Given the description of an element on the screen output the (x, y) to click on. 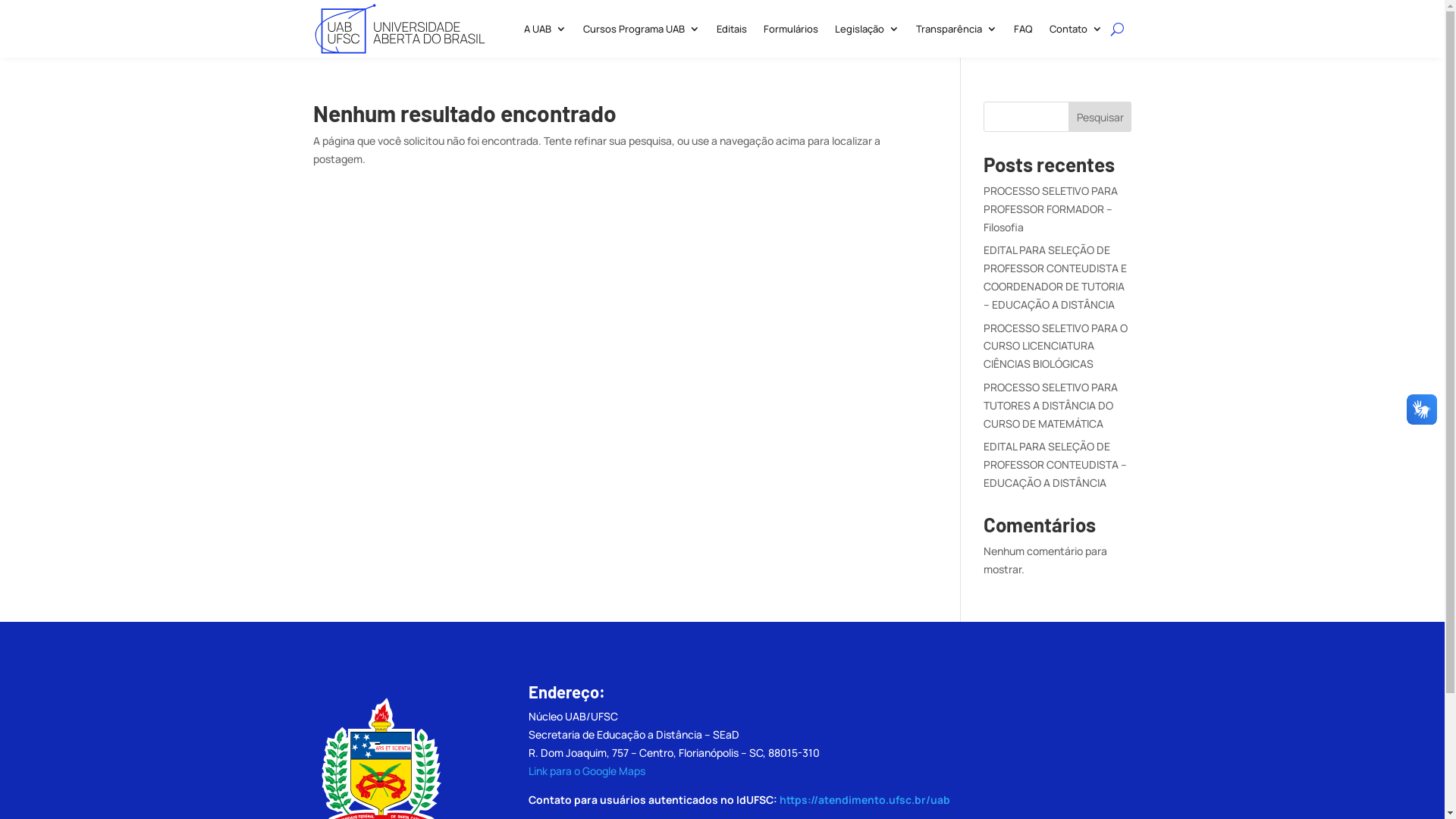
Cursos Programa UAB Element type: text (640, 28)
Contato Element type: text (1075, 28)
Pesquisar Element type: text (1100, 116)
FAQ Element type: text (1022, 28)
A UAB Element type: text (544, 28)
Editais Element type: text (730, 28)
Link para o Google Maps Element type: text (586, 770)
https://atendimento.ufsc.br/uab Element type: text (864, 799)
